Given the description of an element on the screen output the (x, y) to click on. 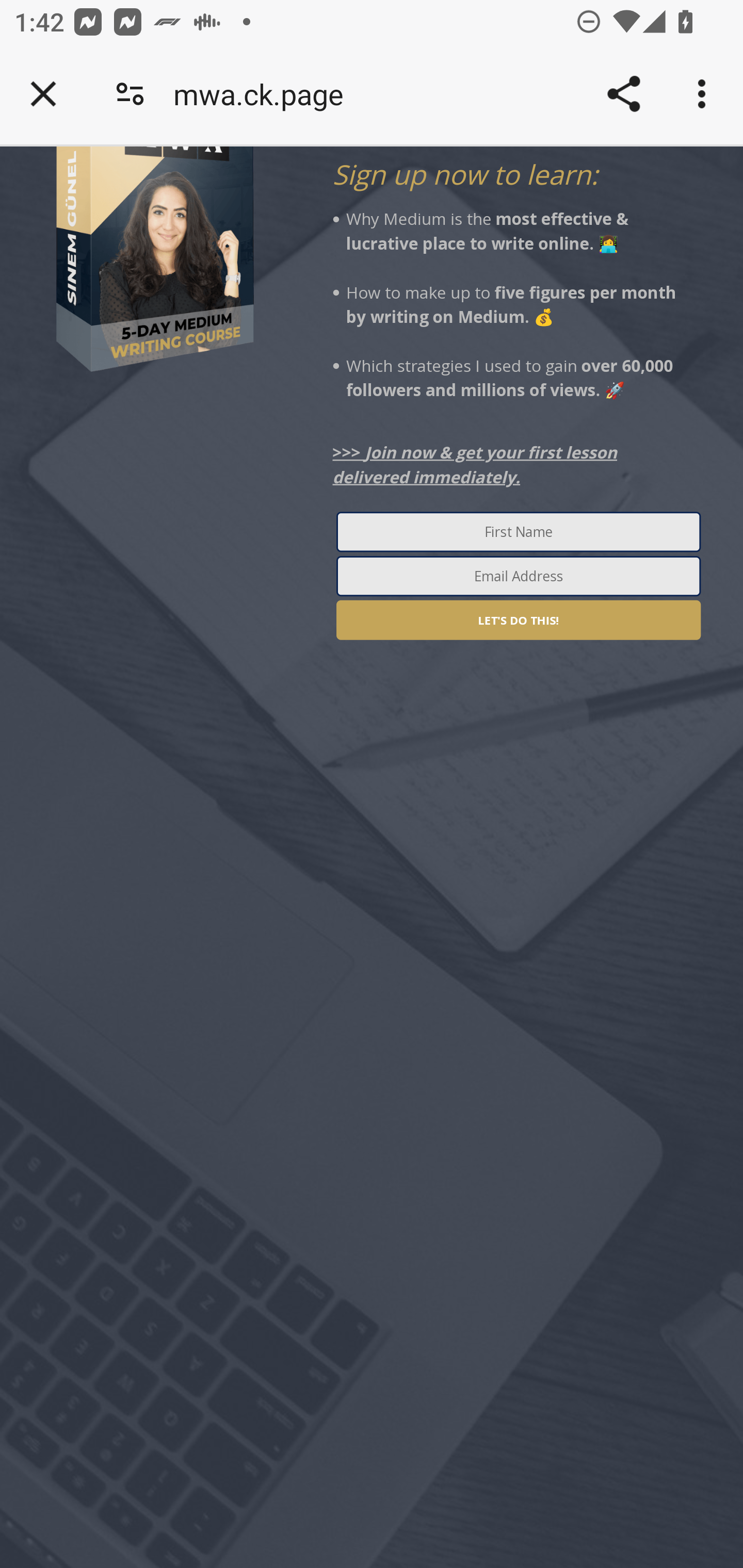
Close tab (43, 93)
Share (623, 93)
Customize and control Google Chrome (705, 93)
Connection is secure (129, 93)
mwa.ck.page (265, 93)
LET'S DO THIS! (518, 619)
